Given the description of an element on the screen output the (x, y) to click on. 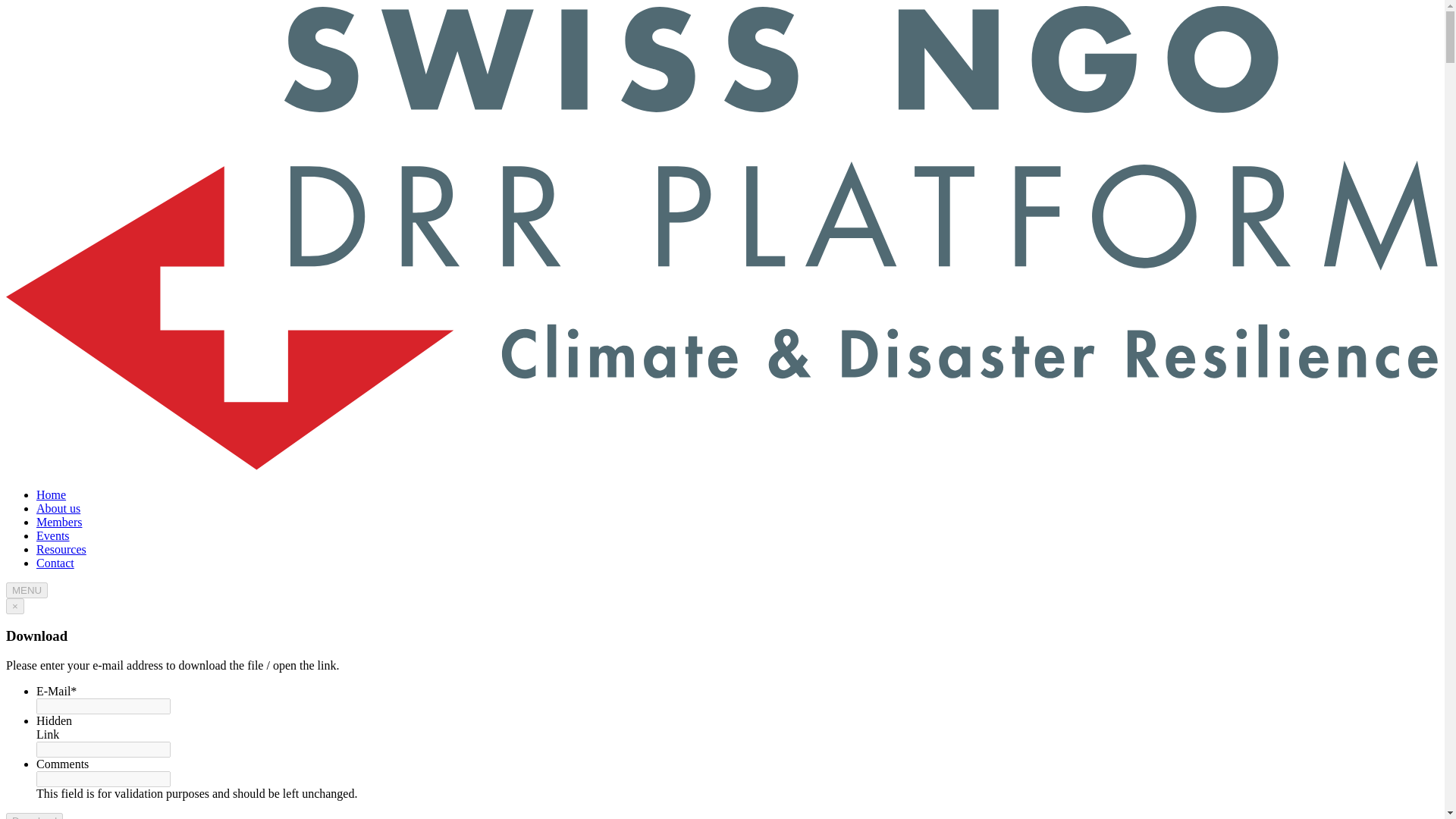
Resources (60, 549)
Home (50, 494)
Members (58, 521)
Download (33, 816)
Home (50, 494)
Members (58, 521)
Download (33, 816)
Contact (55, 562)
MENU (26, 590)
Events (52, 535)
Events (52, 535)
About us (58, 508)
About us (58, 508)
Resources (60, 549)
Contact (55, 562)
